Given the description of an element on the screen output the (x, y) to click on. 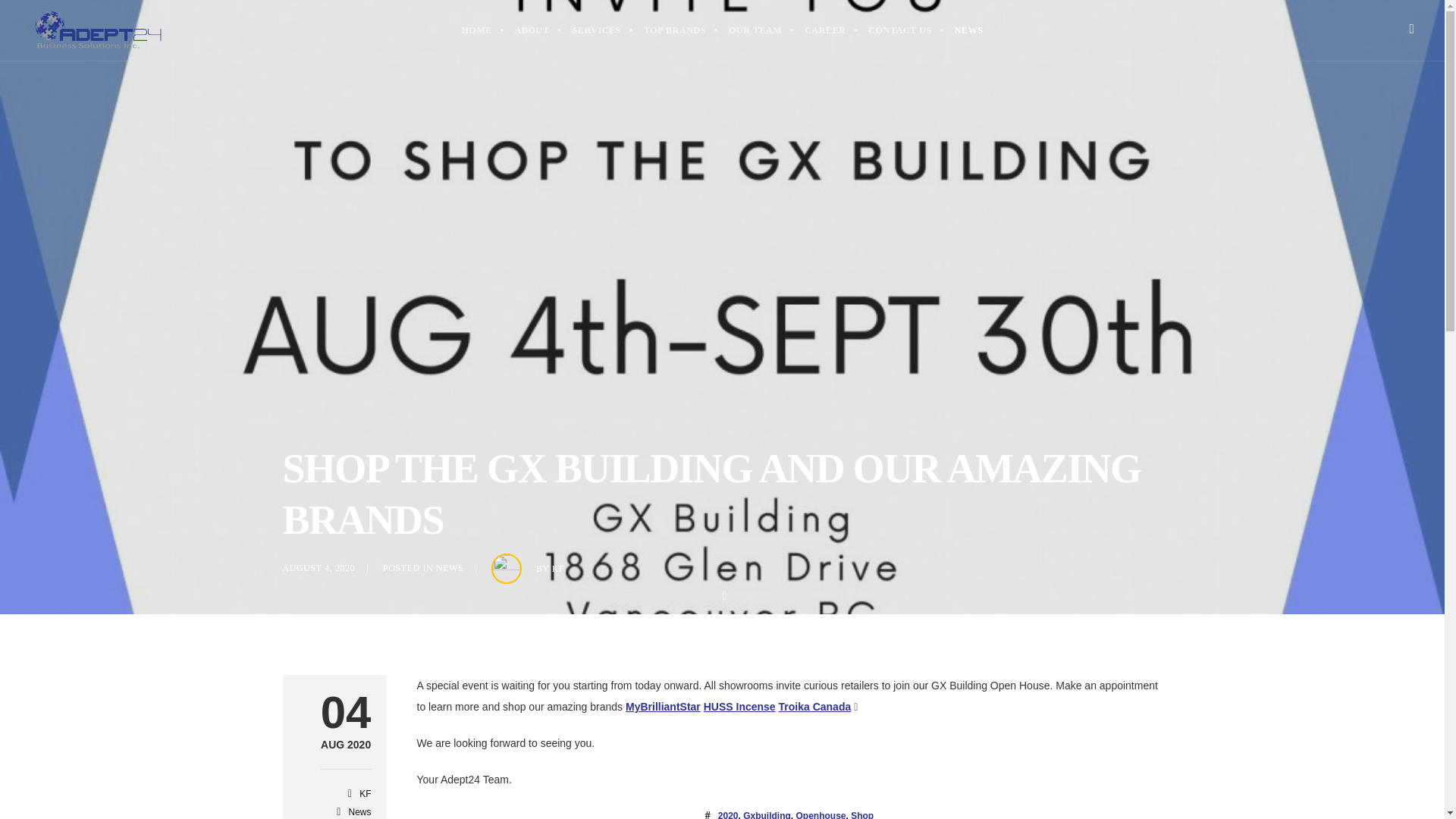
Gxbuilding (766, 814)
KF (557, 568)
2020 (727, 814)
MyBrilliantStar (663, 706)
CONTACT US (900, 30)
News (359, 811)
View all posts in News (449, 567)
CAREER (825, 30)
KF (365, 793)
HUSS Incense (739, 706)
